Given the description of an element on the screen output the (x, y) to click on. 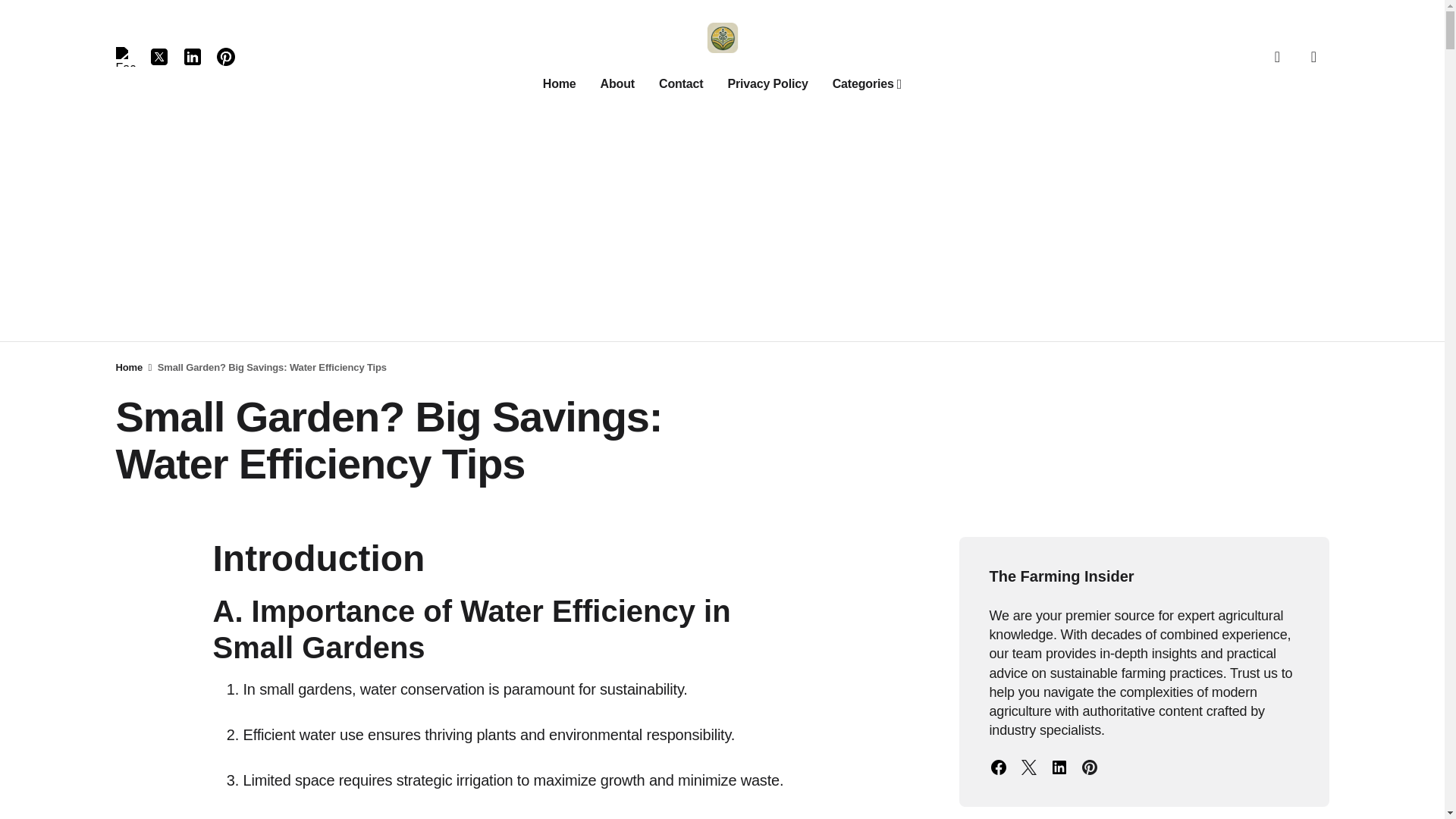
Categories (867, 83)
Privacy Policy (767, 83)
